Given the description of an element on the screen output the (x, y) to click on. 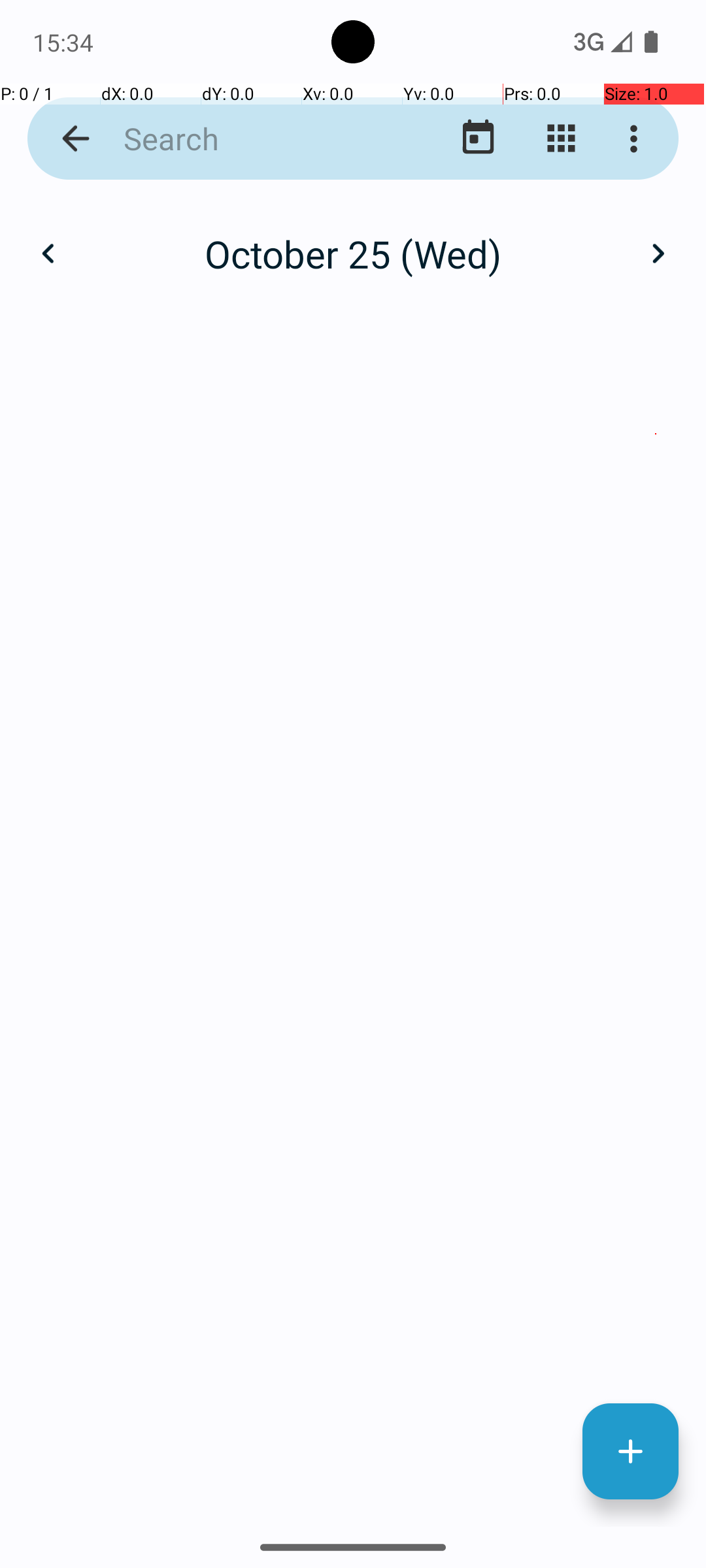
October 25 (Wed) Element type: android.widget.TextView (352, 253)
